Given the description of an element on the screen output the (x, y) to click on. 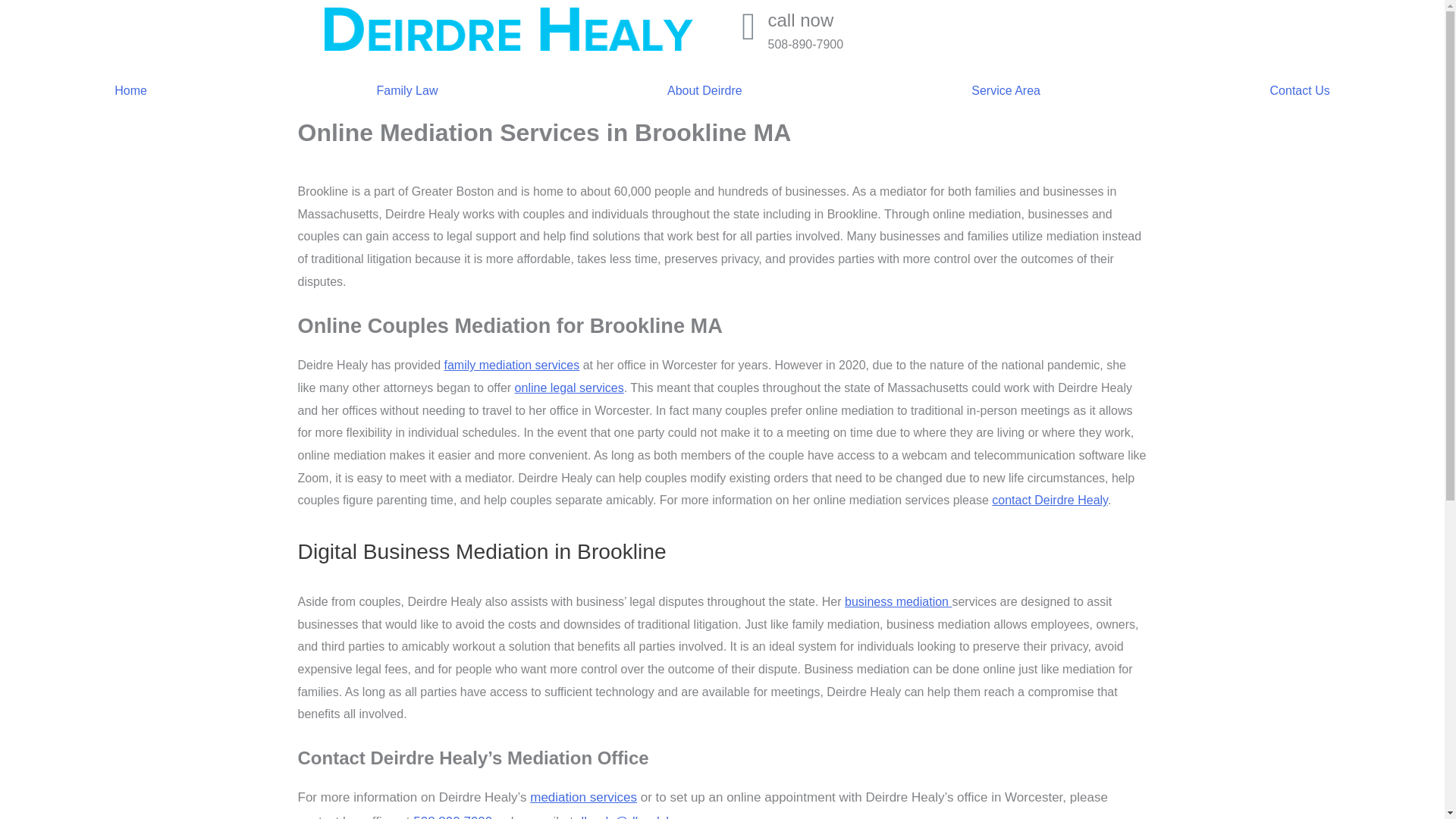
online legal services (569, 387)
family mediation services (511, 364)
Home (131, 90)
Service Area (1005, 90)
About Deirdre (705, 90)
call now (799, 19)
business mediation (898, 601)
Family Law (406, 90)
508.890.7900 (452, 816)
mediation services (583, 797)
